Given the description of an element on the screen output the (x, y) to click on. 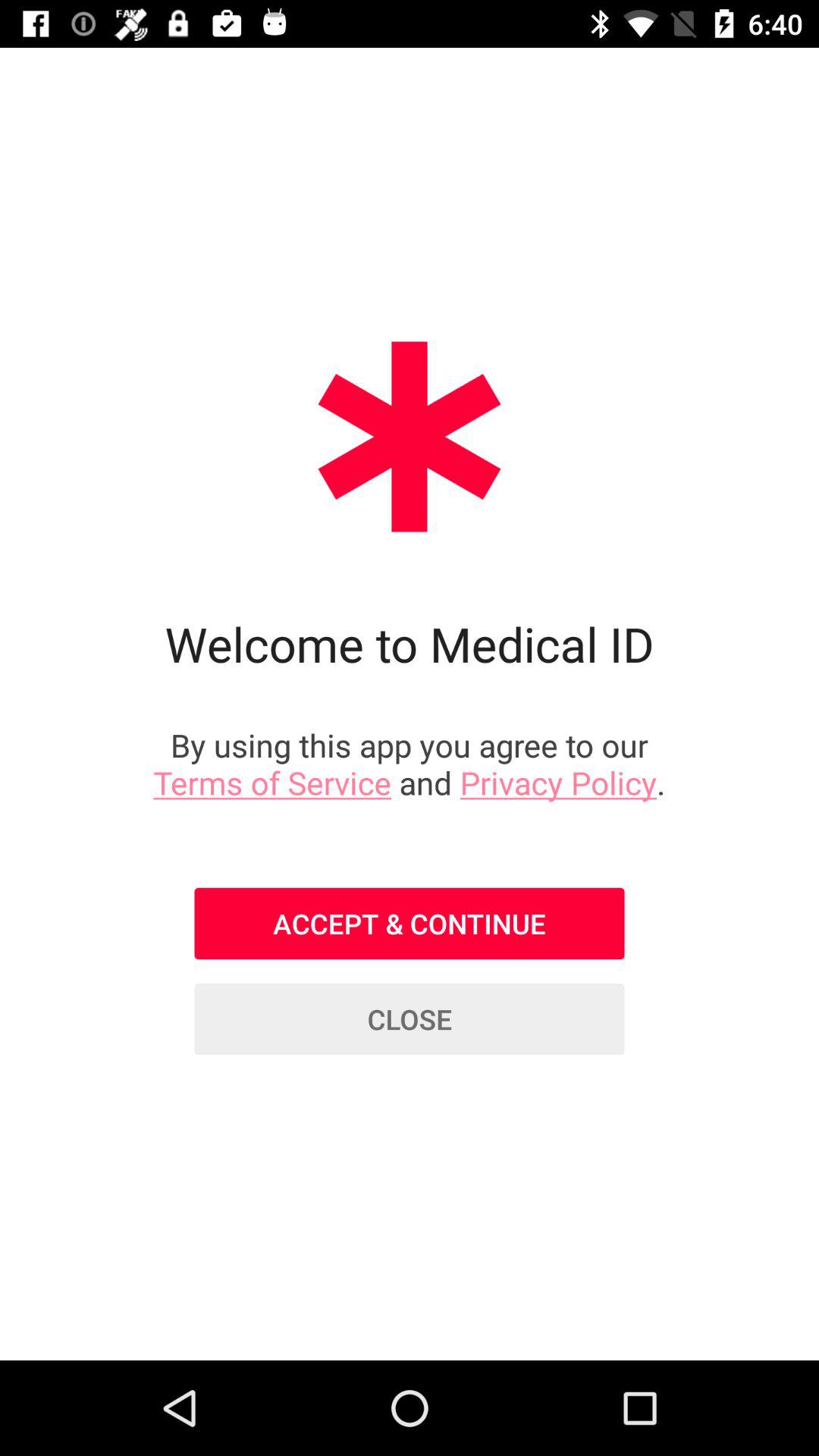
tap close (409, 1018)
